Given the description of an element on the screen output the (x, y) to click on. 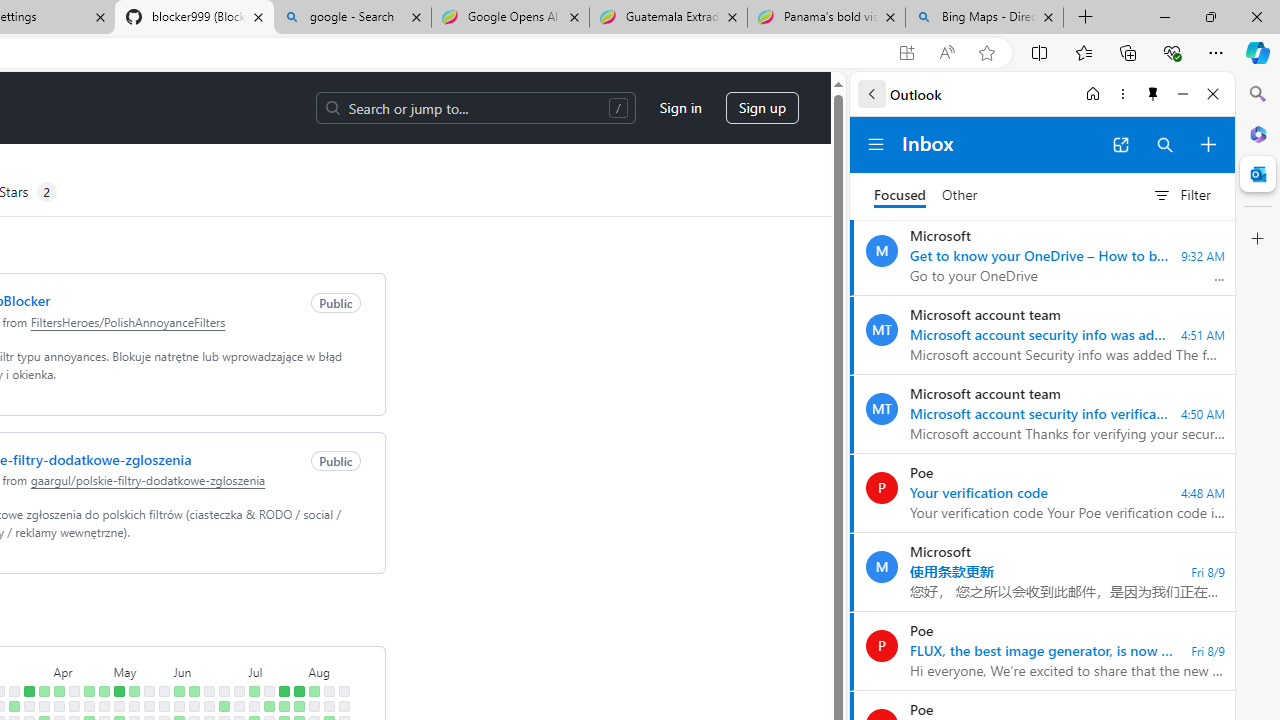
2 contributions on July 15th. (268, 706)
Restore (1210, 16)
5 contributions on March 18th. (13, 706)
April (81, 670)
Read aloud this page (Ctrl+Shift+U) (946, 53)
2 contributions on April 28th. (104, 691)
No contributions on June 17th. (209, 706)
Home (1093, 93)
Other (959, 195)
No contributions on August 11th. (328, 691)
No contributions on August 5th. (314, 706)
Open in new tab (1120, 144)
No contributions on July 1st. (238, 706)
Add this page to favorites (Ctrl+D) (986, 53)
